Given the description of an element on the screen output the (x, y) to click on. 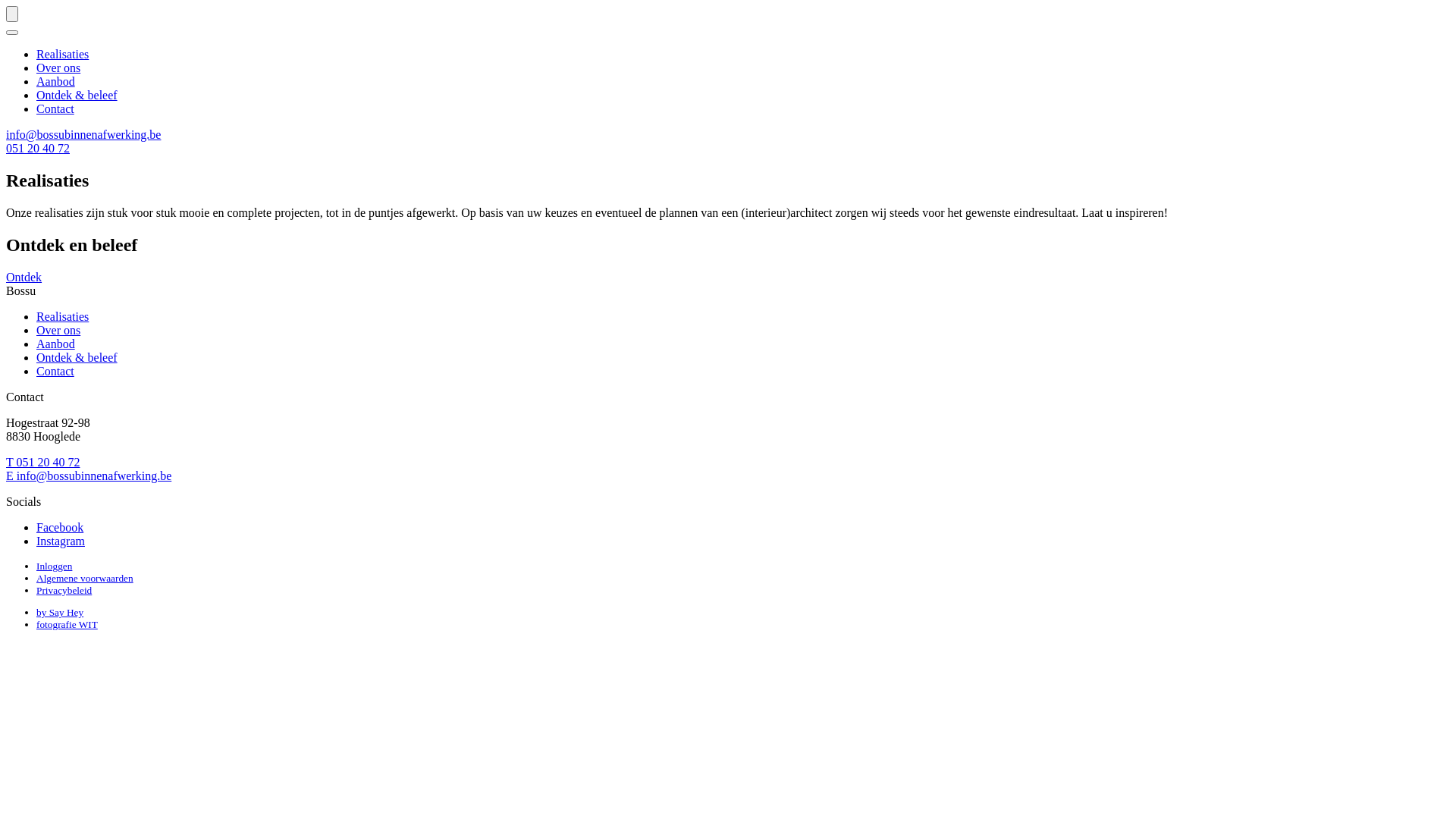
info@bossubinnenafwerking.be Element type: text (83, 134)
Algemene voorwaarden Element type: text (84, 577)
Privacybeleid Element type: text (63, 590)
Ontdek & beleef Element type: text (76, 357)
Aanbod Element type: text (55, 81)
Instagram Element type: text (60, 540)
Realisaties Element type: text (62, 316)
Over ons Element type: text (58, 329)
Facebook Element type: text (59, 526)
E info@bossubinnenafwerking.be Element type: text (88, 475)
by Say Hey Element type: text (59, 612)
Contact Element type: text (55, 370)
Ontdek Element type: text (23, 276)
051 20 40 72 Element type: text (37, 147)
Realisaties Element type: text (62, 53)
T 051 20 40 72 Element type: text (42, 461)
Over ons Element type: text (58, 67)
Aanbod Element type: text (55, 343)
Inloggen Element type: text (54, 565)
Open menu Element type: hover (12, 32)
Contact Element type: text (55, 108)
Ontdek & beleef Element type: text (76, 94)
fotografie WIT Element type: text (66, 624)
